Given the description of an element on the screen output the (x, y) to click on. 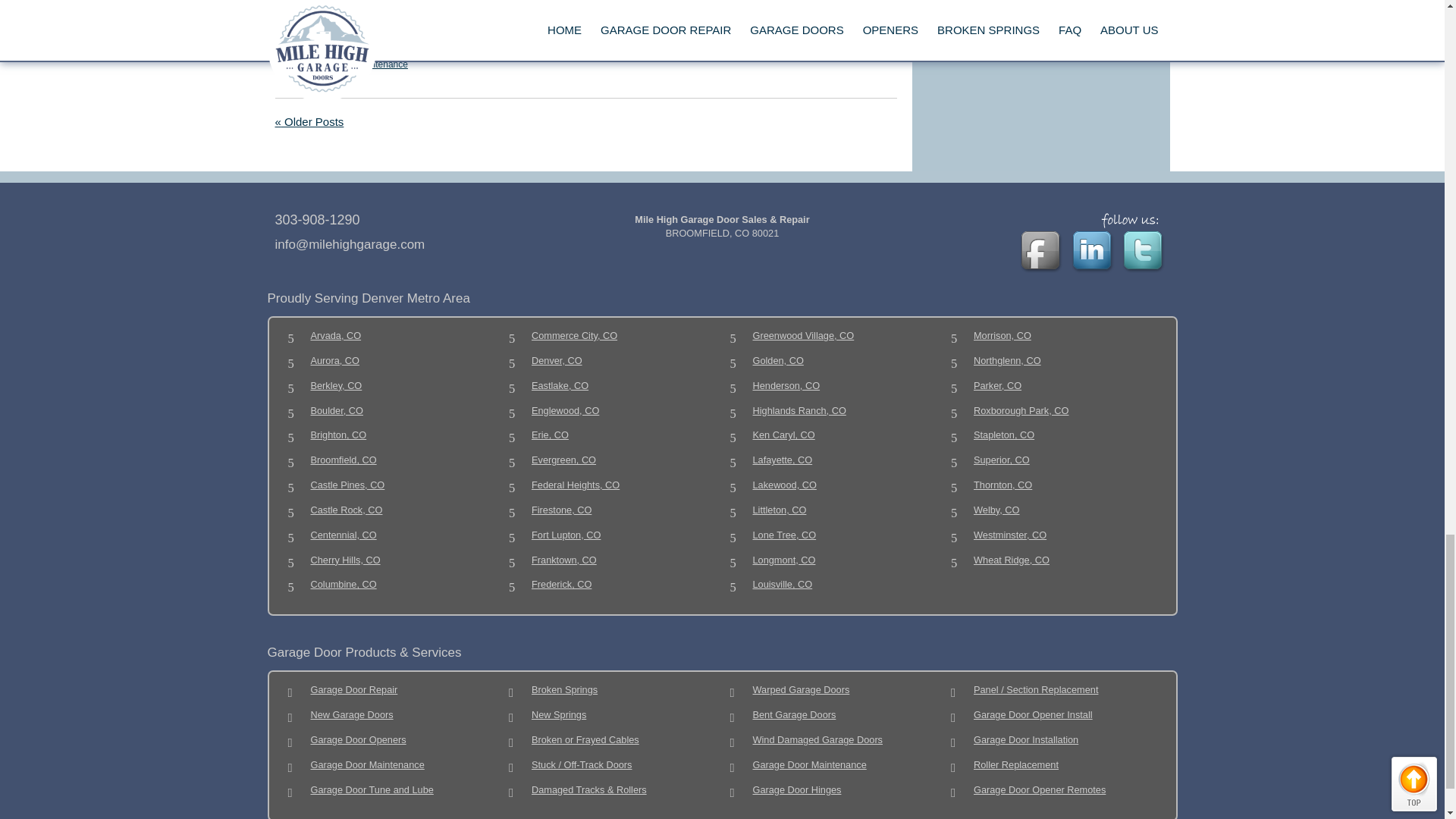
Follow Us on Twitter (1145, 252)
Follow Us on Linedin (1094, 252)
Follow Us on Social Media Sites (1133, 220)
Follow Us on Facebook (1042, 252)
